Given the description of an element on the screen output the (x, y) to click on. 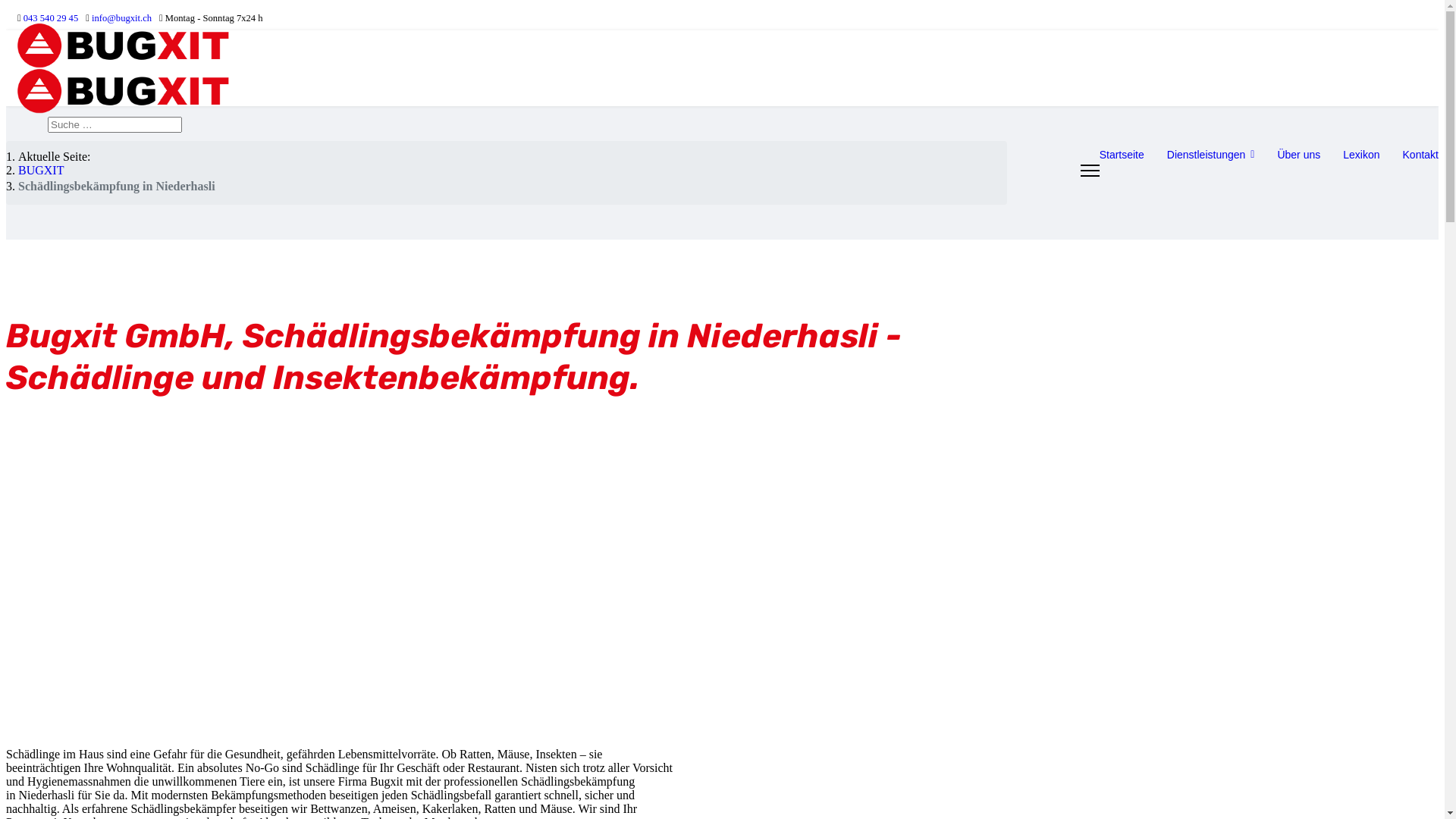
BUGXIT Element type: text (40, 169)
Startseite Element type: text (1121, 154)
info@bugxit.ch Element type: text (121, 17)
Kontakt Element type: text (1414, 154)
Dienstleistungen Element type: text (1210, 154)
Menu Element type: hover (1089, 170)
Lexikon Element type: text (1360, 154)
043 540 29 45 Element type: text (50, 17)
